Given the description of an element on the screen output the (x, y) to click on. 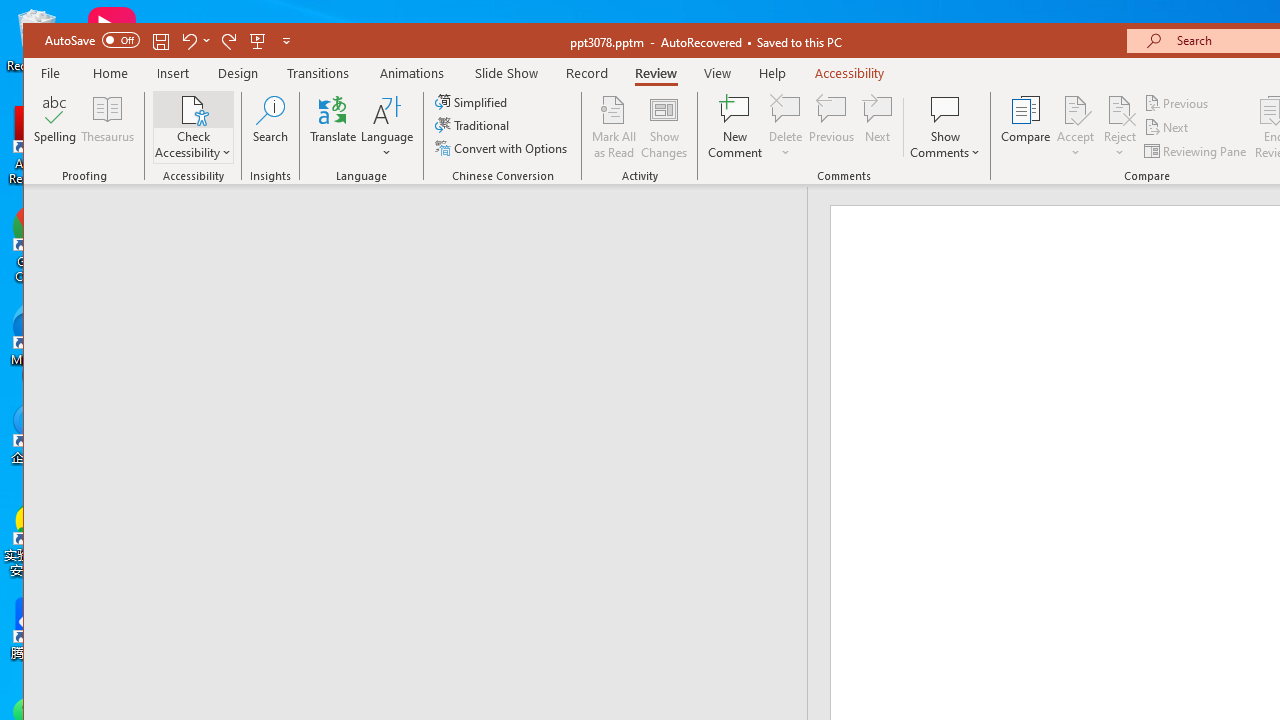
Thesaurus... (107, 127)
Reject Change (1119, 109)
Reviewing Pane (1196, 150)
